Given the description of an element on the screen output the (x, y) to click on. 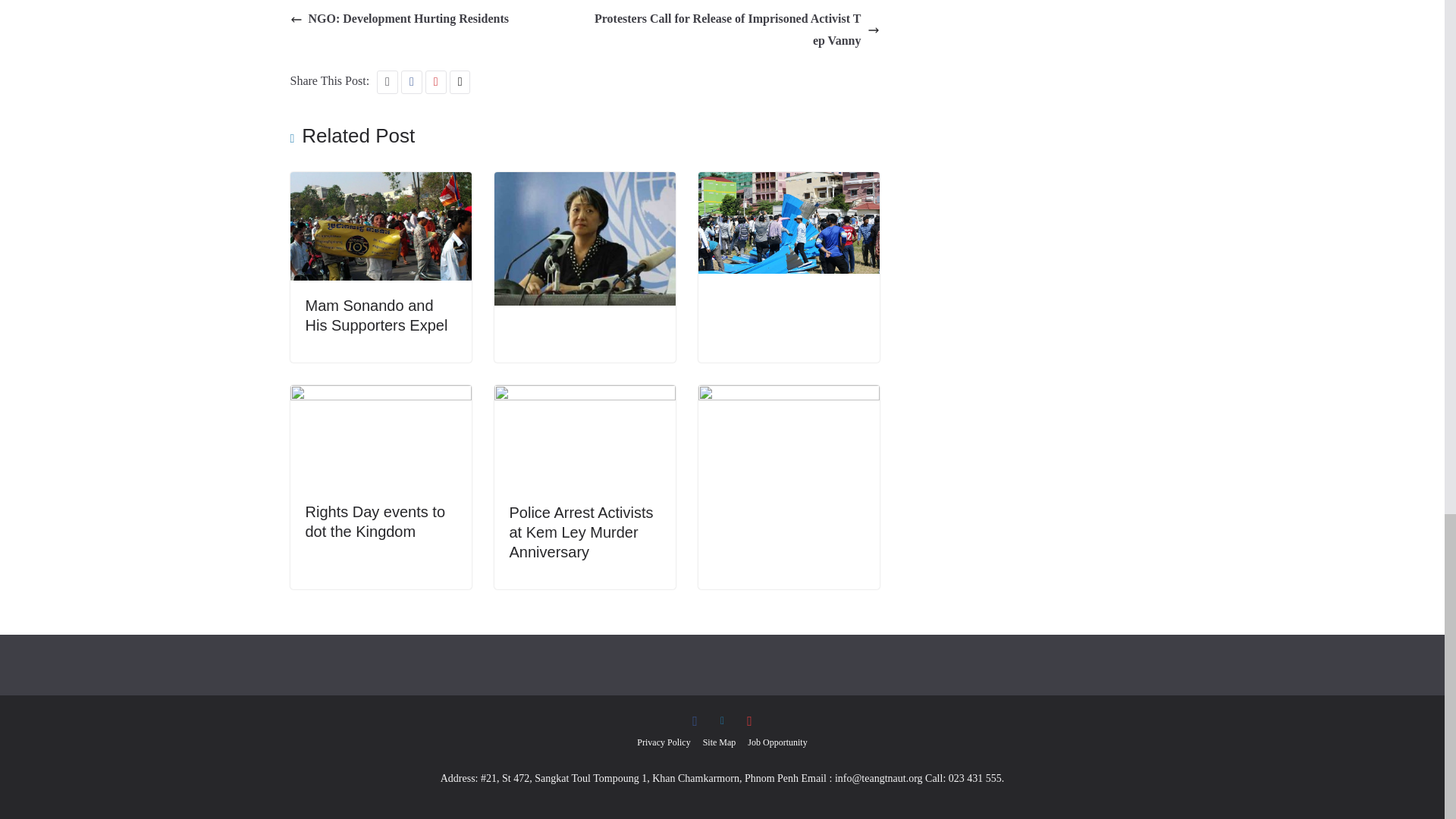
Rights Day events to dot the Kingdom (374, 521)
Police Arrest Activists at Kem Ley Murder Anniversary (581, 532)
Mam Sonando and His Supporters Expel (375, 315)
Rights Day events to dot the Kingdom (374, 521)
NGO: Development Hurting Residents (398, 19)
Rights Day events to dot the Kingdom (379, 395)
Mam Sonando and His Supporters Expel (375, 315)
Police Arrest Activists at Kem Ley Murder Anniversary (585, 395)
Mam Sonando and His Supporters Expel (379, 182)
Protesters Call for Release of Imprisoned Activist Tep Vanny (735, 30)
